Given the description of an element on the screen output the (x, y) to click on. 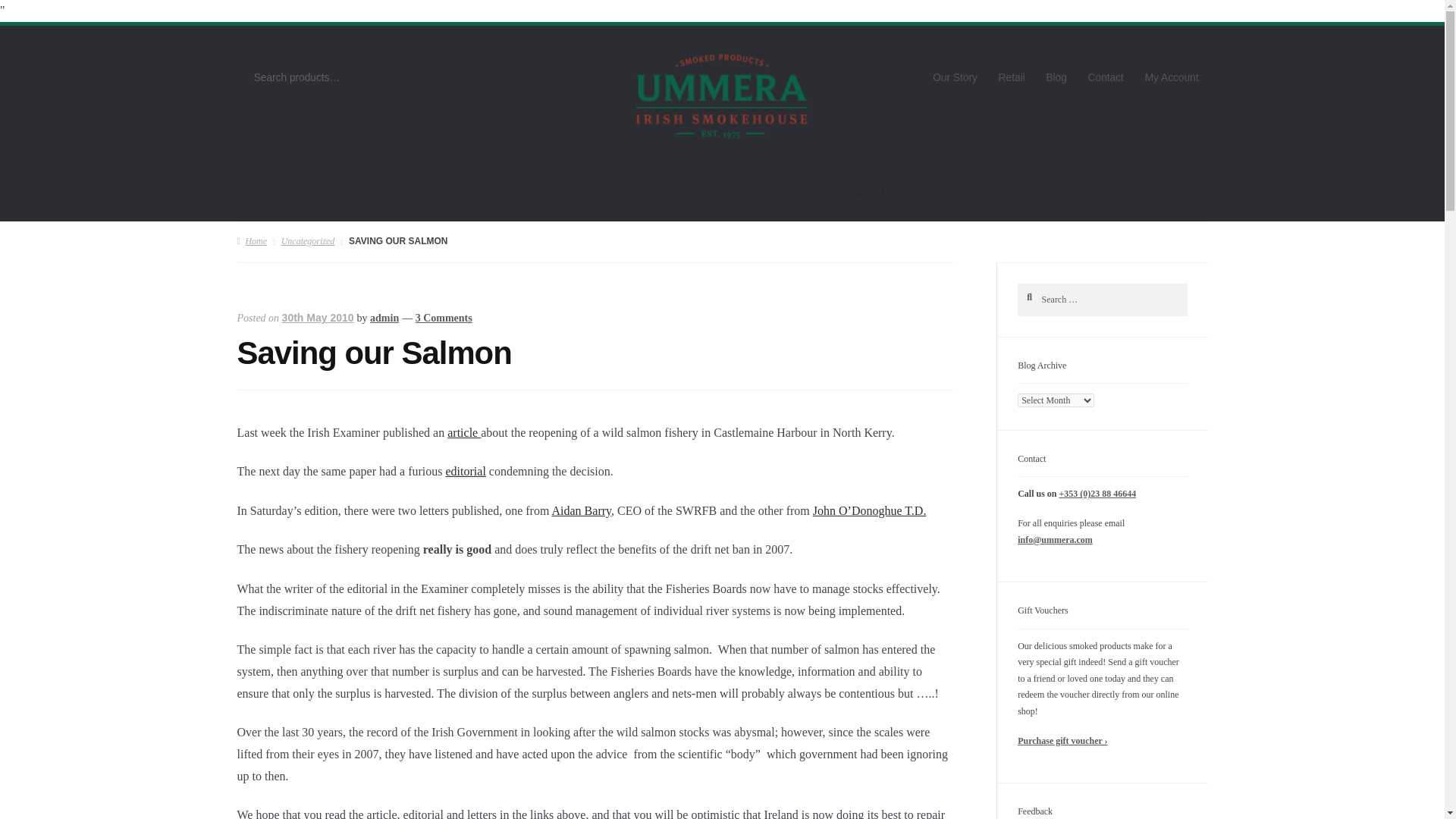
My Account (1171, 78)
BACON (867, 194)
GRAVADLAX (655, 194)
30th May 2010 (317, 317)
article (463, 432)
SHOP (507, 194)
Our Story (955, 78)
DUCK (807, 194)
View your shopping basket (469, 78)
Contact (1105, 78)
